Given the description of an element on the screen output the (x, y) to click on. 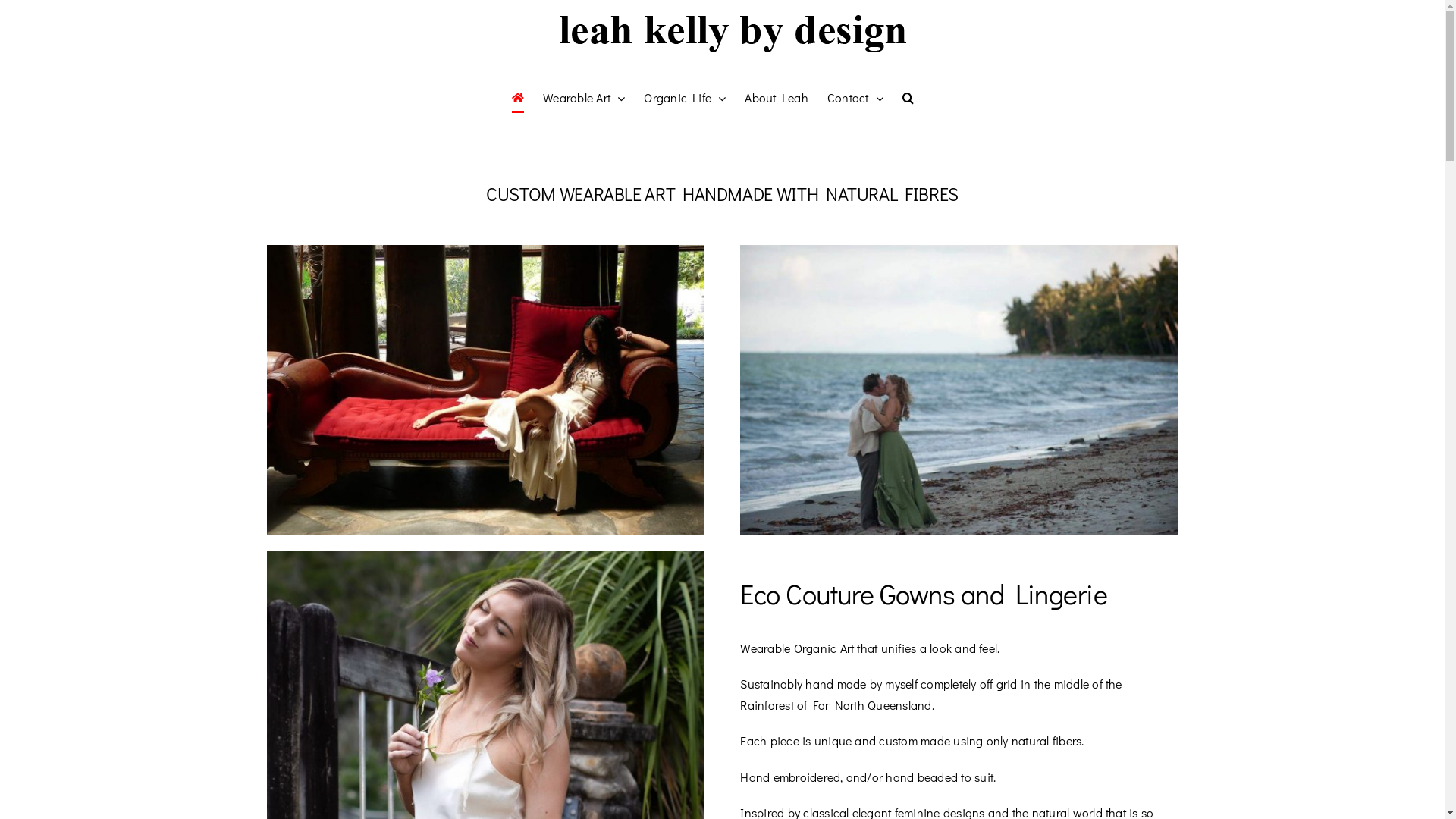
FB_IMG_1541036265676-r Element type: hover (484, 389)
Contact Element type: text (855, 97)
Search Element type: hover (907, 97)
Organic Life Element type: text (684, 97)
Wearable Art Element type: text (583, 97)
FB_IMG_1562725223831 Element type: hover (958, 389)
About Leah Element type: text (775, 97)
